Given the description of an element on the screen output the (x, y) to click on. 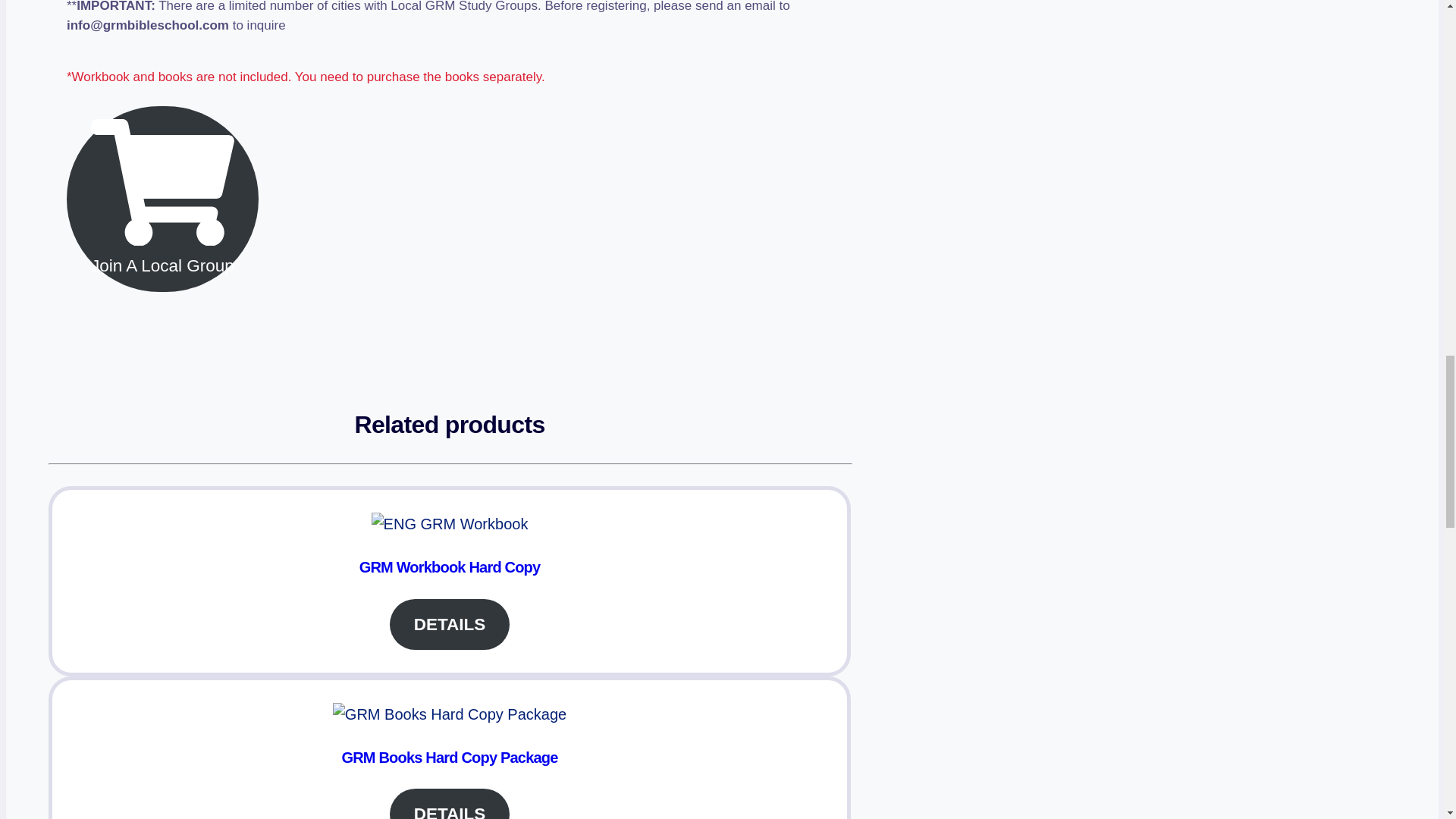
Join A Local Group (162, 198)
DETAILS (450, 624)
DETAILS (450, 803)
GRM Books Hard Copy Package (448, 757)
GRM Workbook Hard Copy (449, 566)
